Given the description of an element on the screen output the (x, y) to click on. 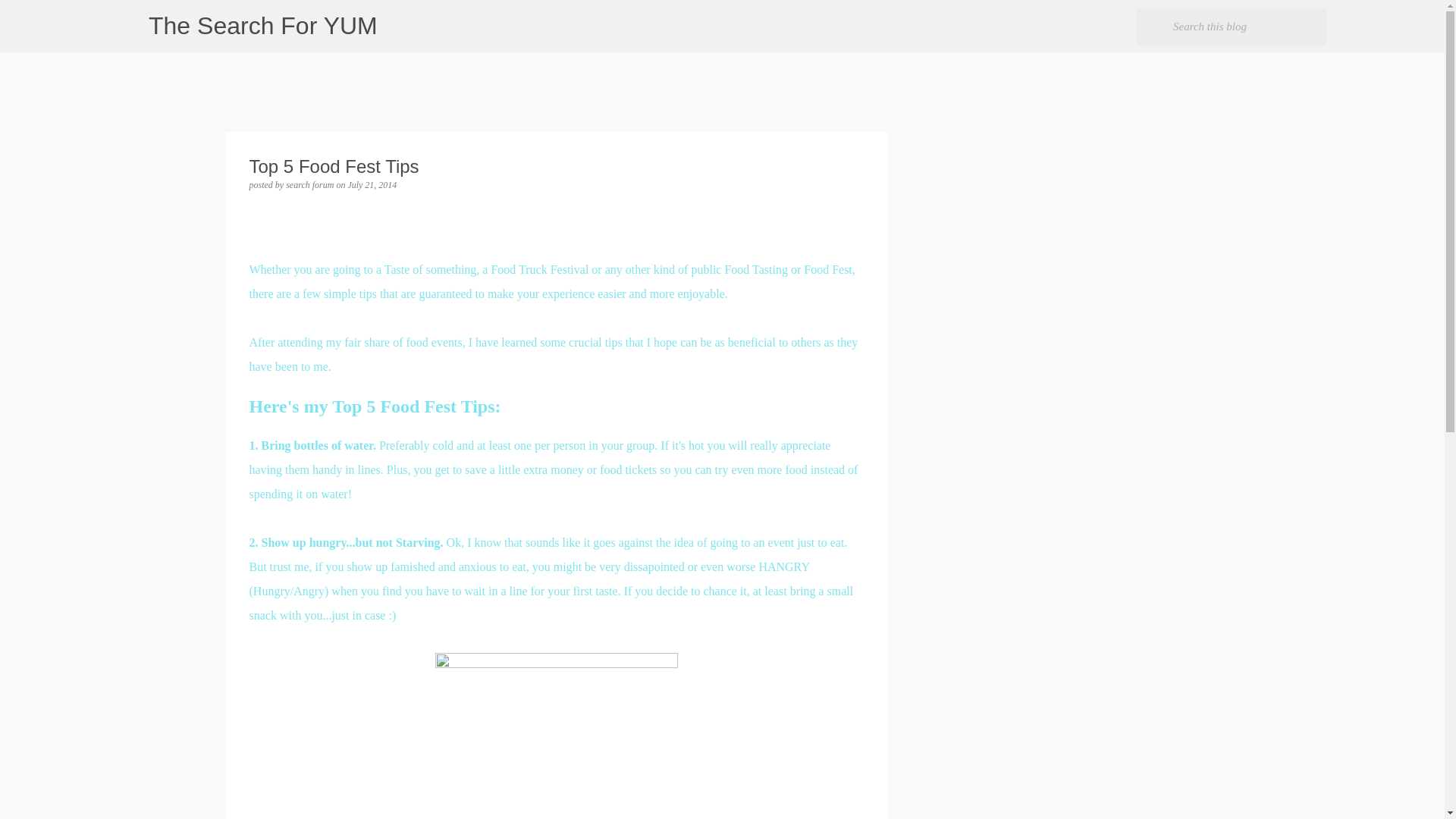
The Search For YUM (262, 25)
author profile (310, 184)
July 21, 2014 (371, 184)
search forum (310, 184)
permanent link (371, 184)
